Given the description of an element on the screen output the (x, y) to click on. 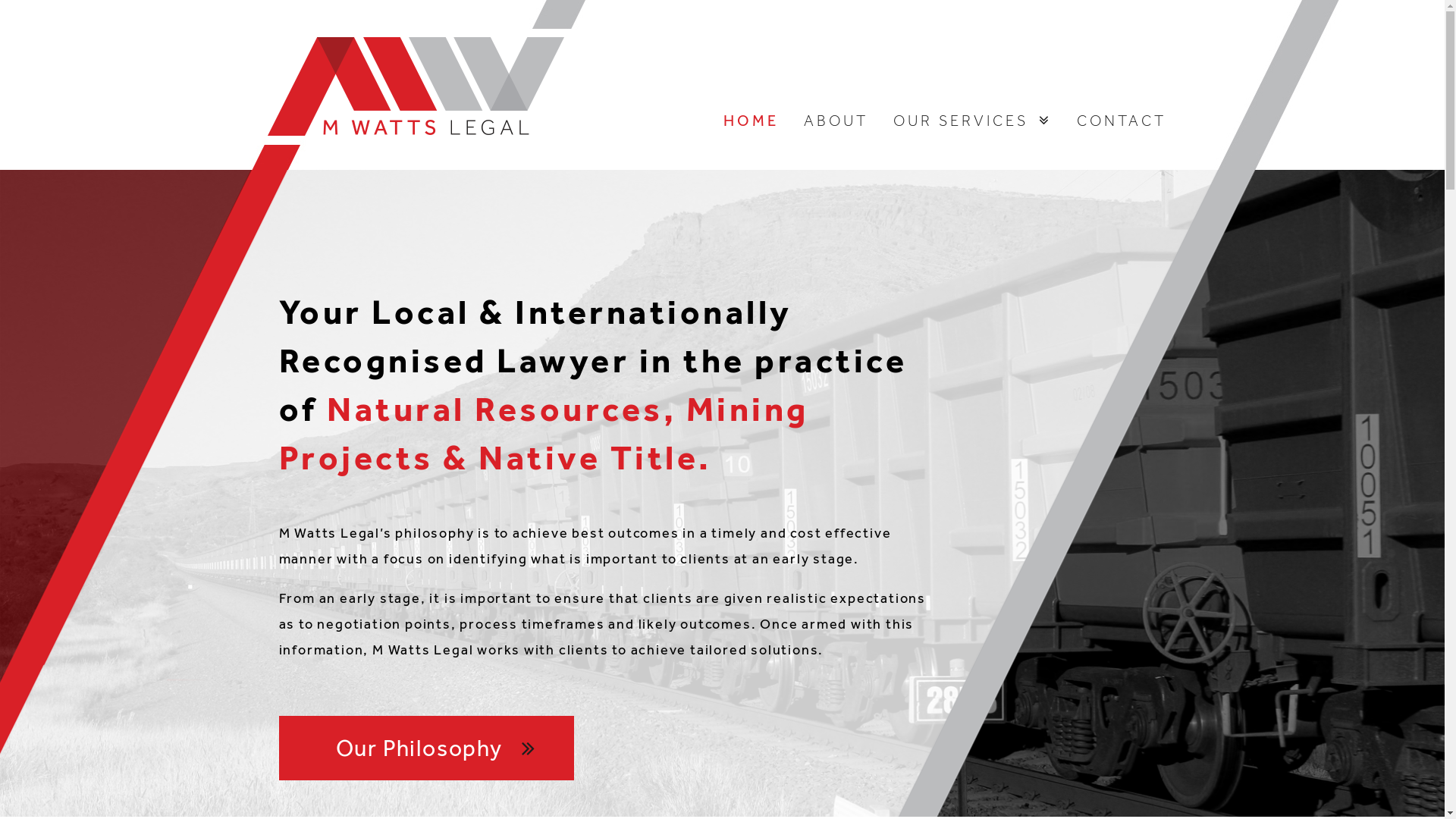
Skip to content Element type: text (0, 0)
ABOUT Element type: text (835, 121)
Our Philosophy Element type: text (426, 747)
HOME Element type: text (750, 120)
OUR SERVICES Element type: text (972, 121)
CONTACT Element type: text (1121, 121)
